Given the description of an element on the screen output the (x, y) to click on. 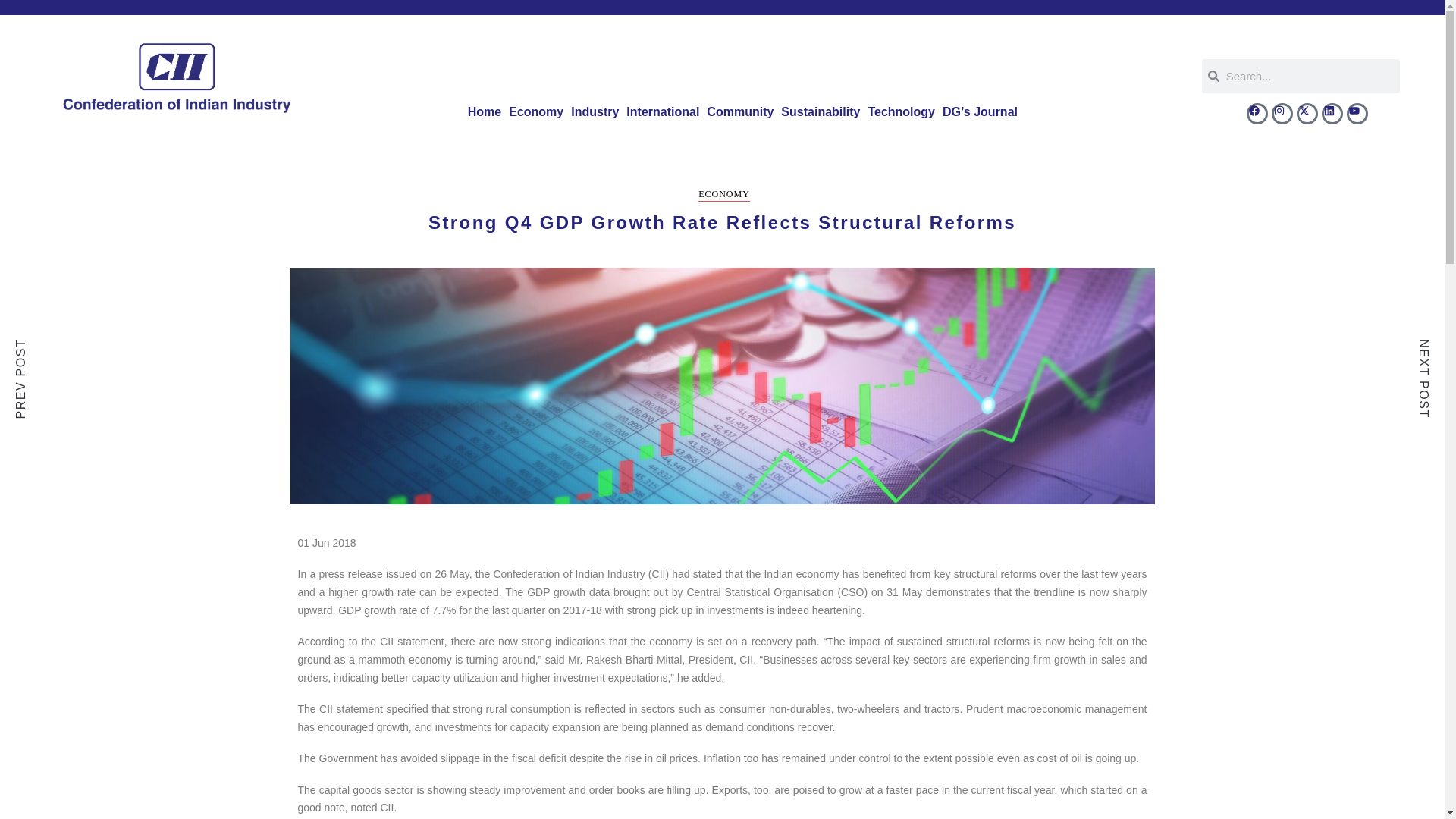
Technology (901, 112)
Economy (536, 112)
Community (740, 112)
Home (484, 112)
ECONOMY (723, 195)
Sustainability (820, 112)
International (663, 112)
Industry (595, 112)
